Given the description of an element on the screen output the (x, y) to click on. 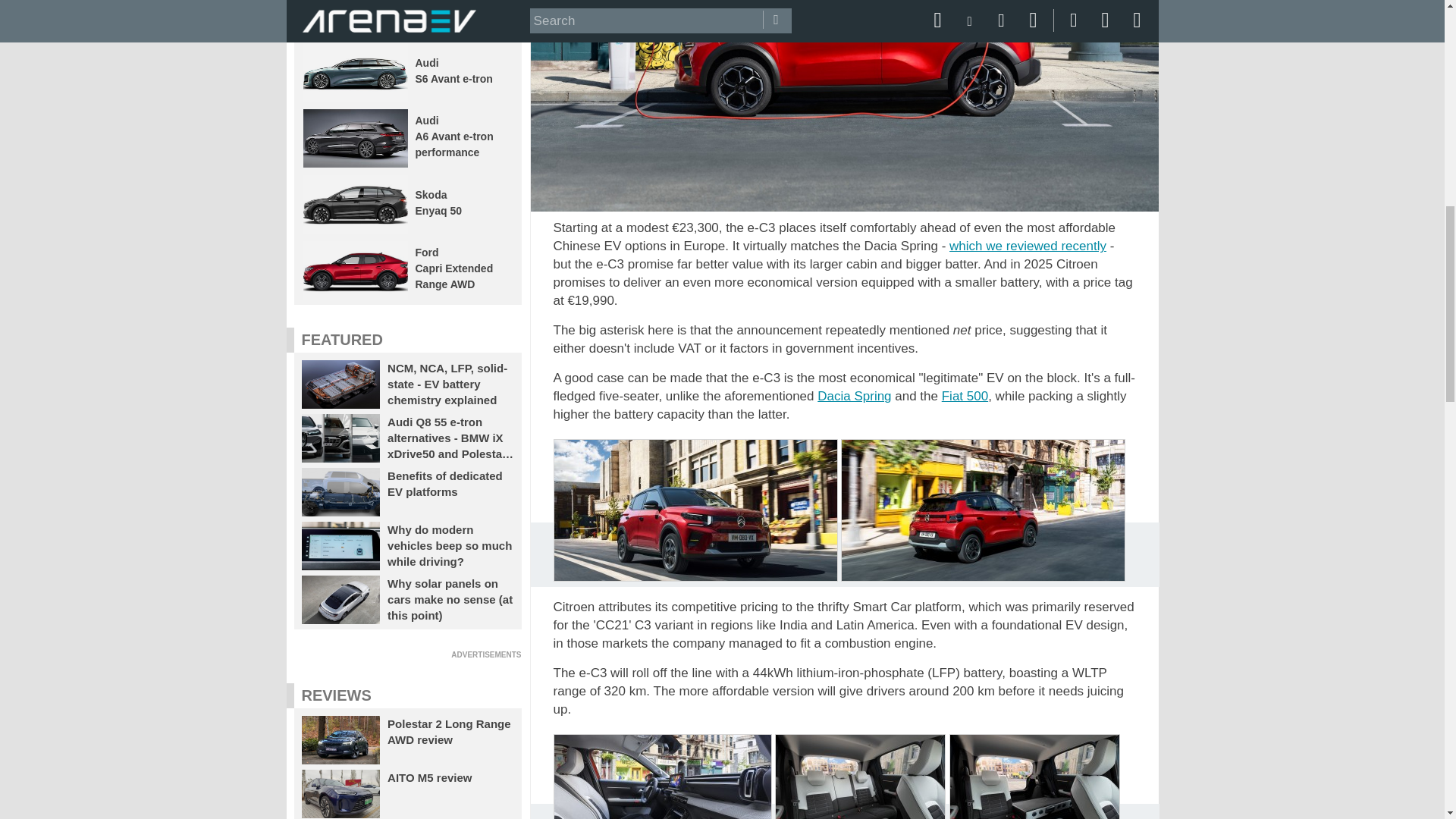
Fiat 500 (965, 396)
Dacia Spring (853, 396)
which we reviewed recently (1027, 246)
